Given the description of an element on the screen output the (x, y) to click on. 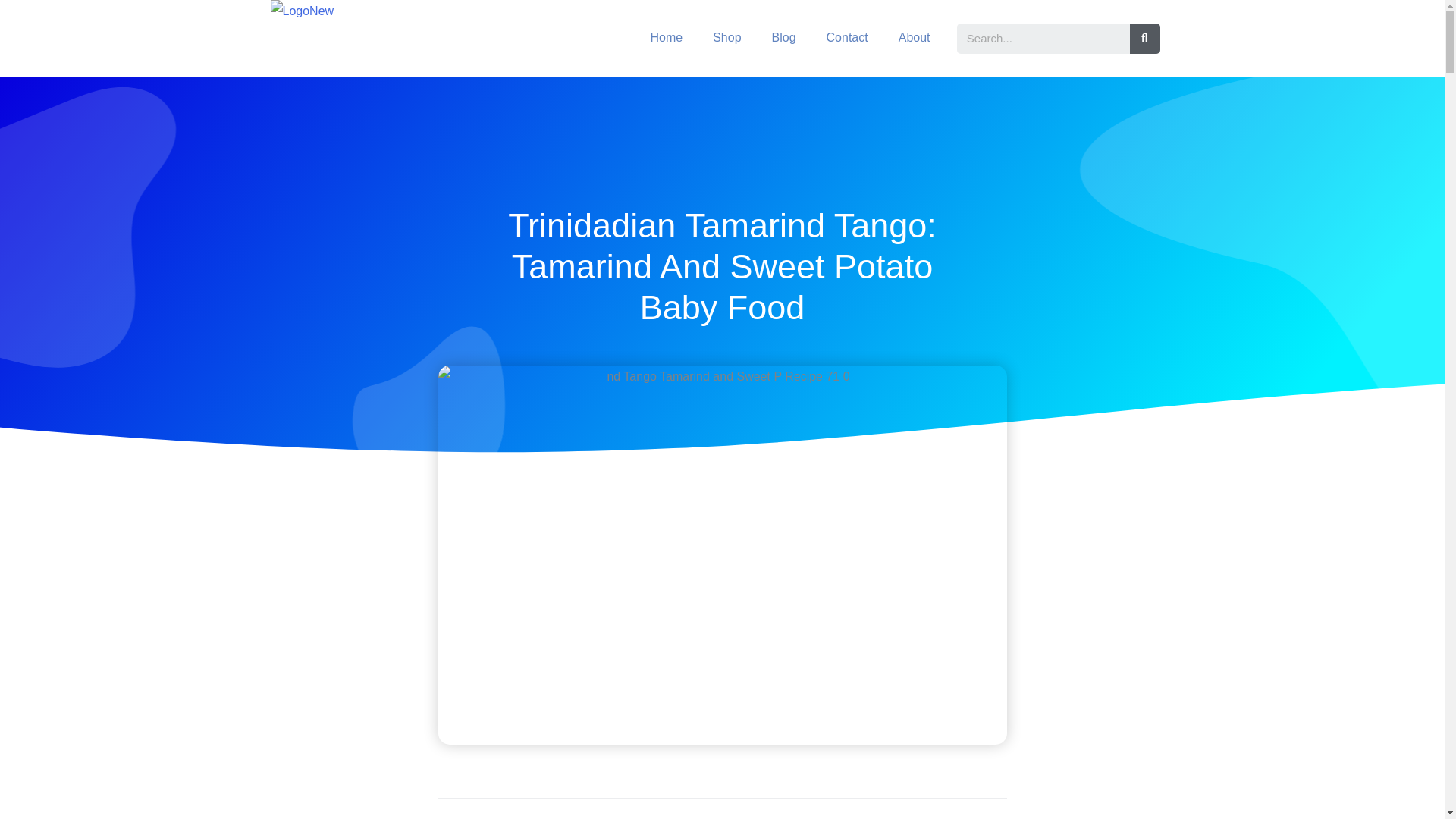
Home (665, 38)
About (913, 38)
Search (1042, 38)
Search (1144, 38)
Blog (783, 38)
Contact (846, 38)
Shop (726, 38)
